Given the description of an element on the screen output the (x, y) to click on. 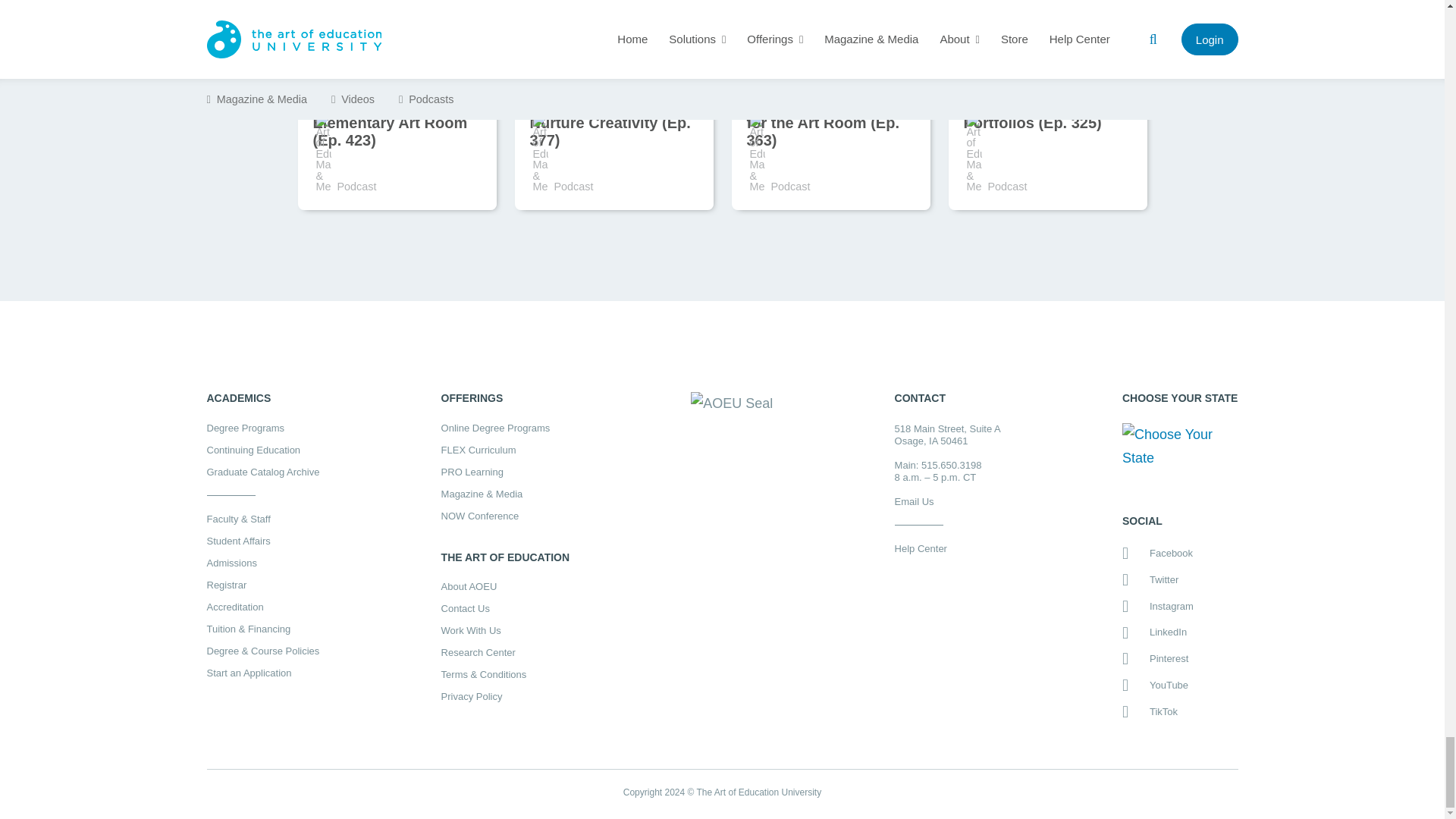
Continuing Education (262, 450)
Registrar (262, 584)
Admissions (262, 562)
Degree Programs (262, 428)
Student Affairs (262, 541)
Graduate Catalog Archive (262, 471)
Accreditation (262, 606)
